Given the description of an element on the screen output the (x, y) to click on. 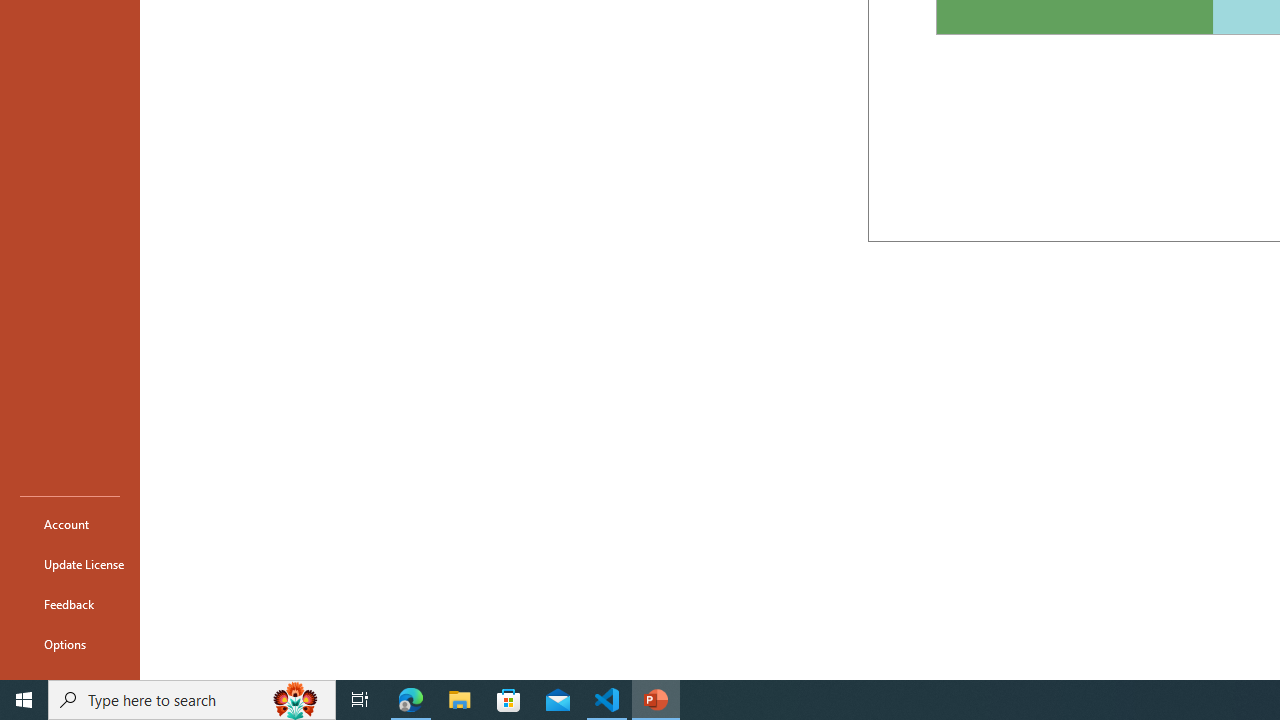
Options (69, 643)
Update License (69, 563)
Feedback (69, 603)
Account (69, 523)
